Given the description of an element on the screen output the (x, y) to click on. 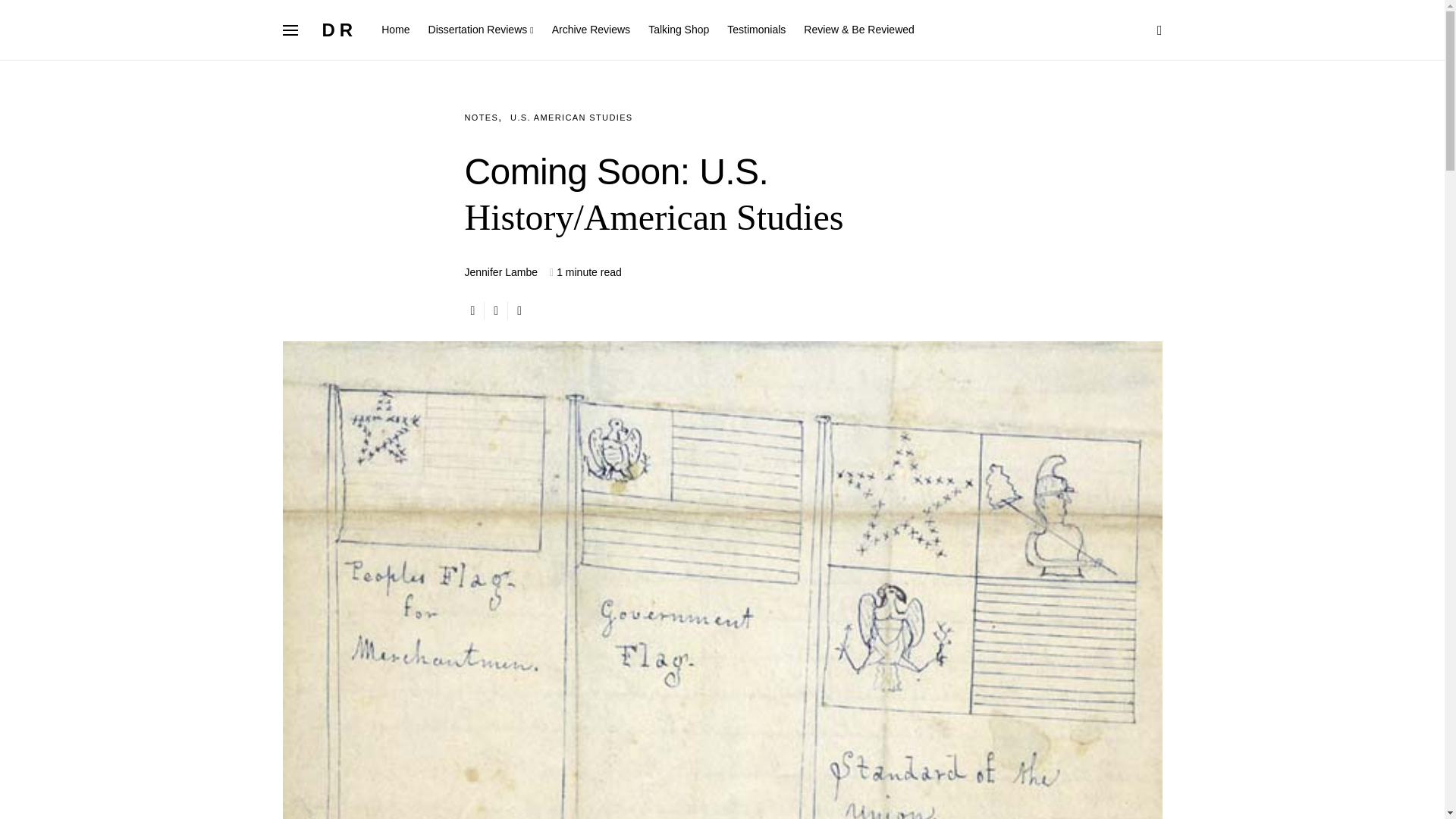
DR (338, 29)
View all posts by Jennifer Lambe (500, 272)
